Given the description of an element on the screen output the (x, y) to click on. 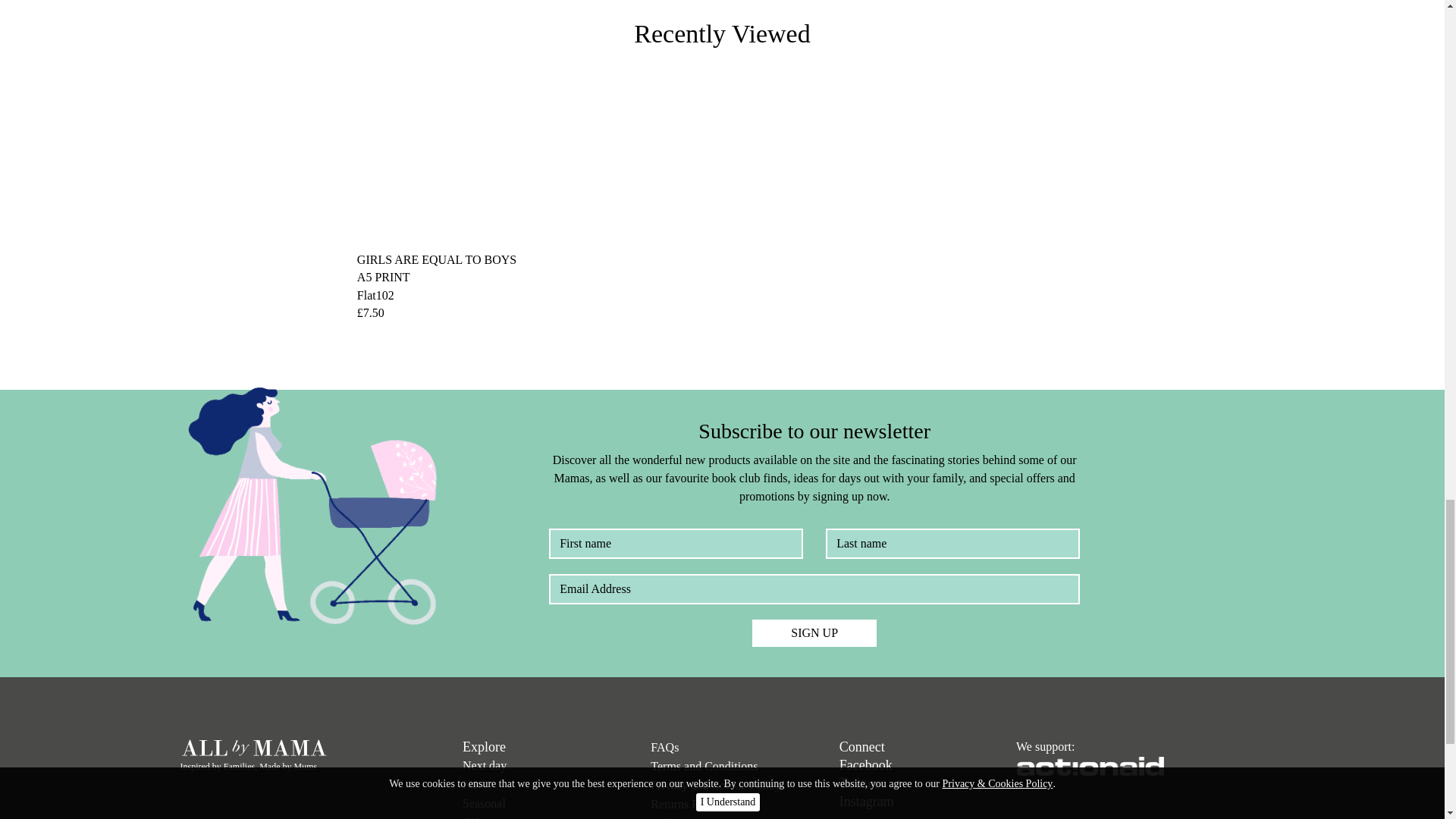
FAQs (664, 747)
Returns Policy  (686, 803)
Terms and Conditions (703, 766)
Deliveries  (675, 817)
Privacy and Cookie Policy (715, 784)
